Given the description of an element on the screen output the (x, y) to click on. 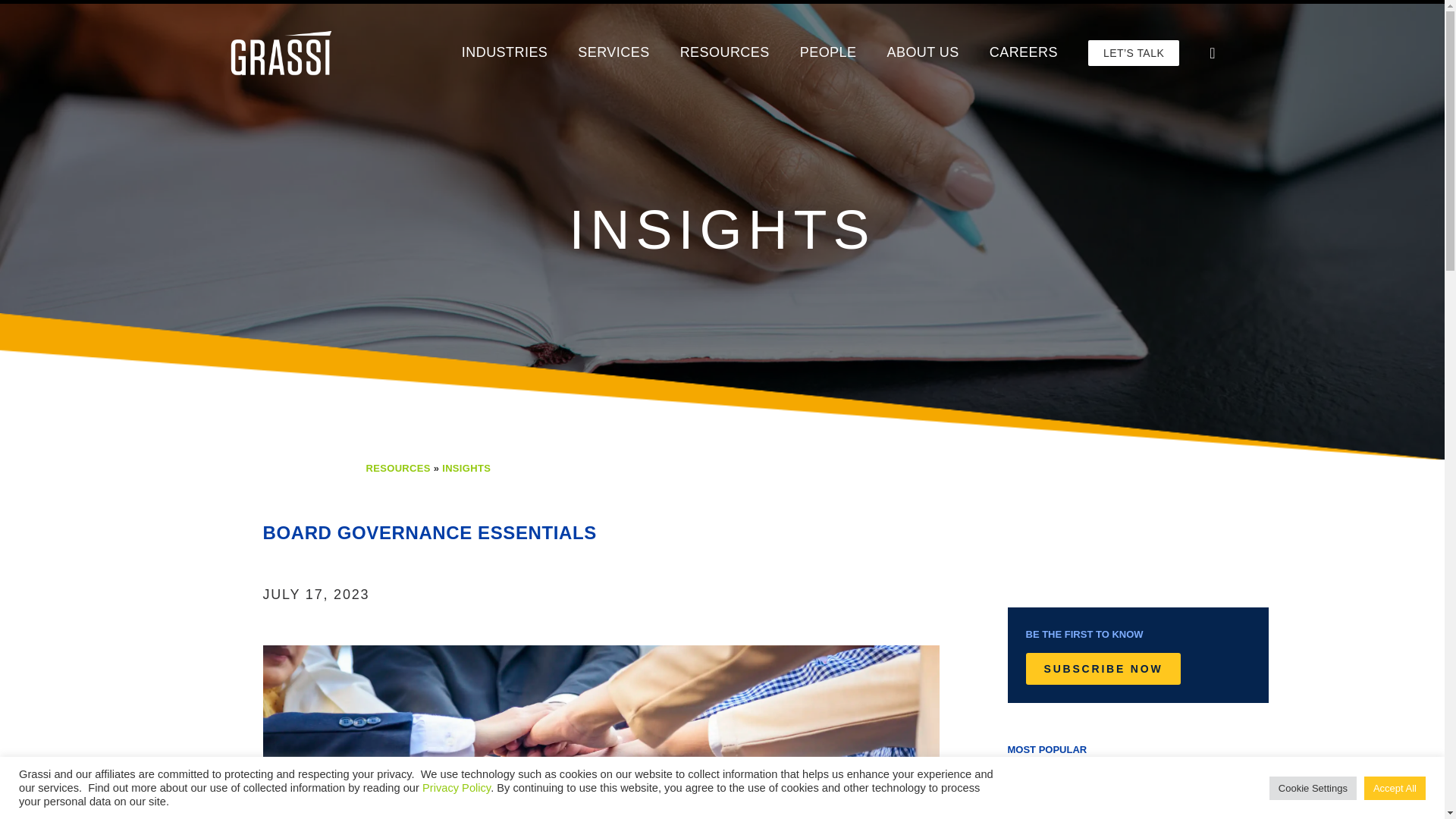
SERVICES (613, 52)
INDUSTRIES (504, 52)
